Given the description of an element on the screen output the (x, y) to click on. 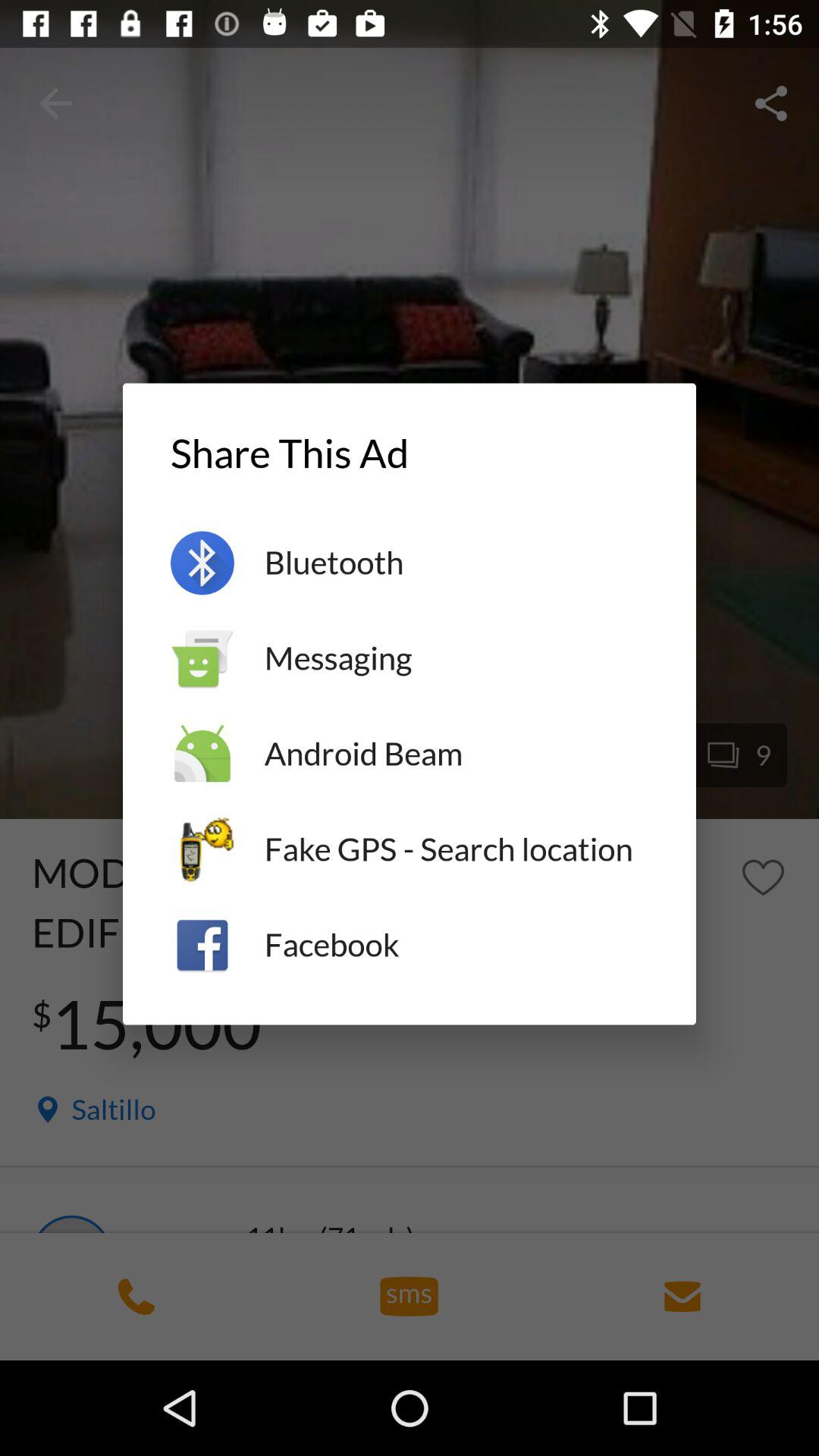
scroll until the bluetooth (456, 562)
